Given the description of an element on the screen output the (x, y) to click on. 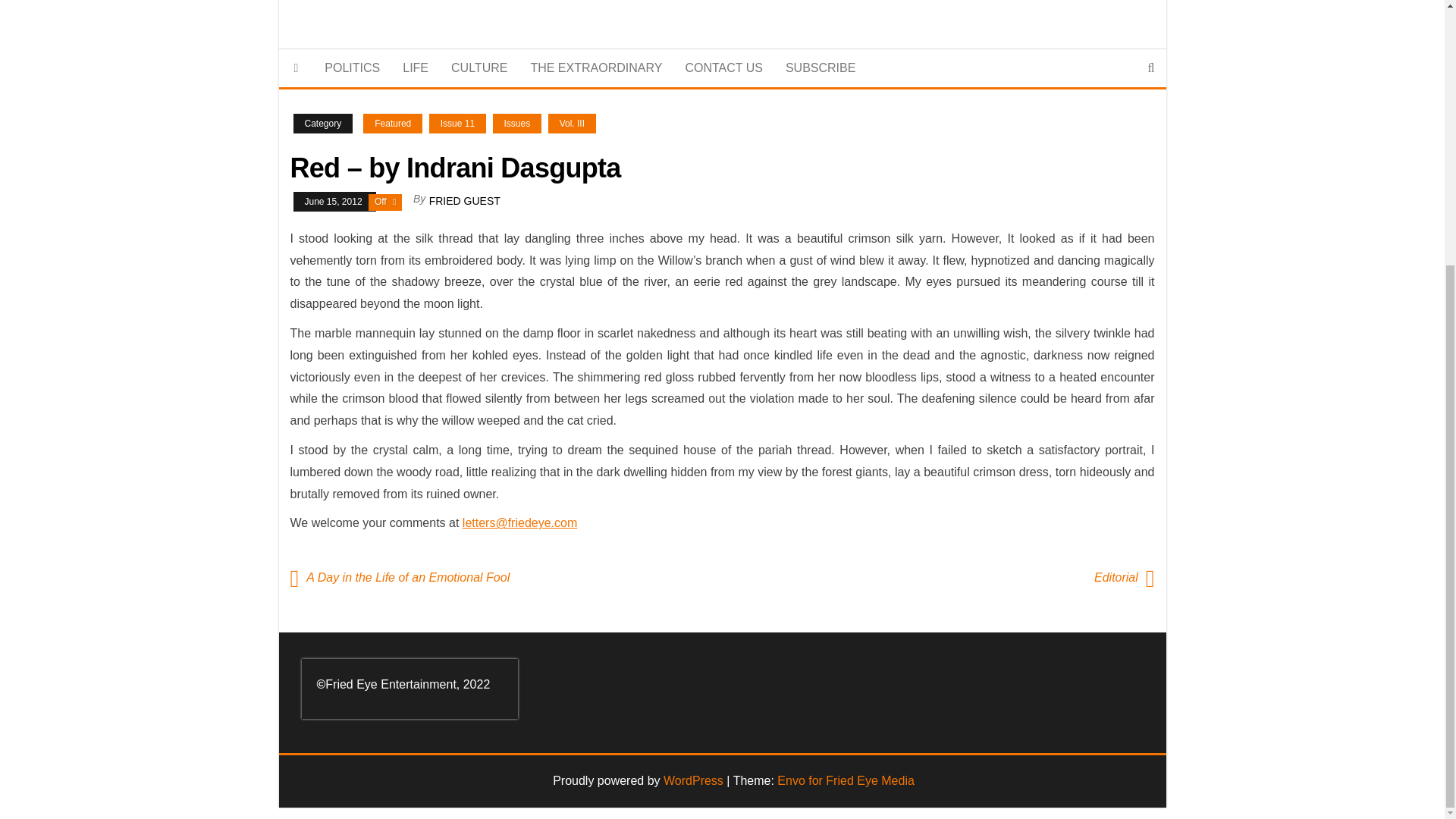
SUBSCRIBE (820, 67)
CONTACT US (723, 67)
LIFE (415, 67)
Featured (392, 123)
WordPress (693, 780)
CULTURE (478, 67)
Envo for Fried Eye Media (845, 780)
CONTACT US (723, 67)
SUBSCRIBE (820, 67)
THE EXTRAORDINARY (595, 67)
POLITICS (352, 67)
POLITICS (352, 67)
FRIED GUEST (464, 200)
CULTURE (478, 67)
Issue 11 (457, 123)
